Given the description of an element on the screen output the (x, y) to click on. 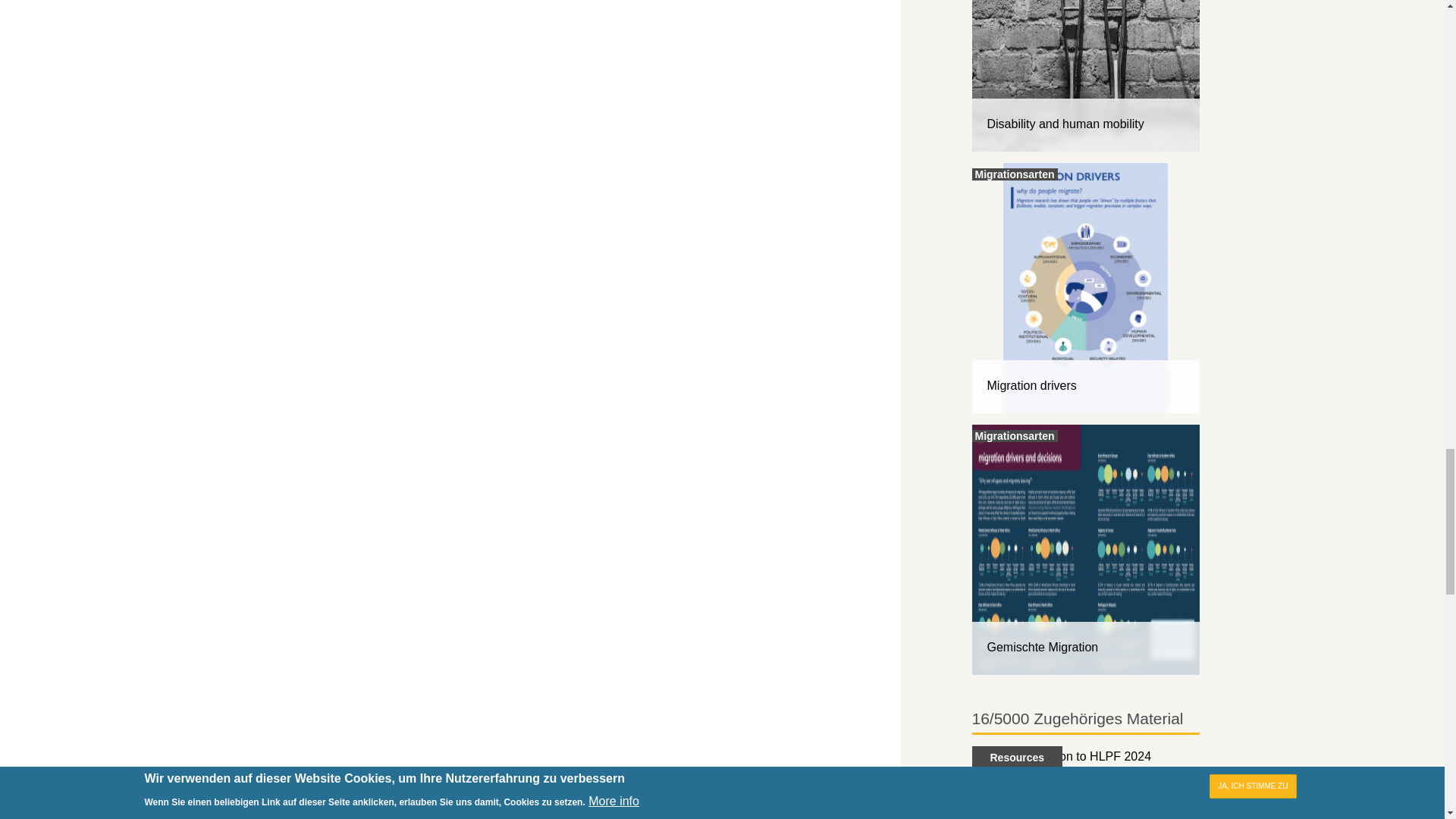
IOM Submission to HLPF 2024 (1085, 782)
